Given the description of an element on the screen output the (x, y) to click on. 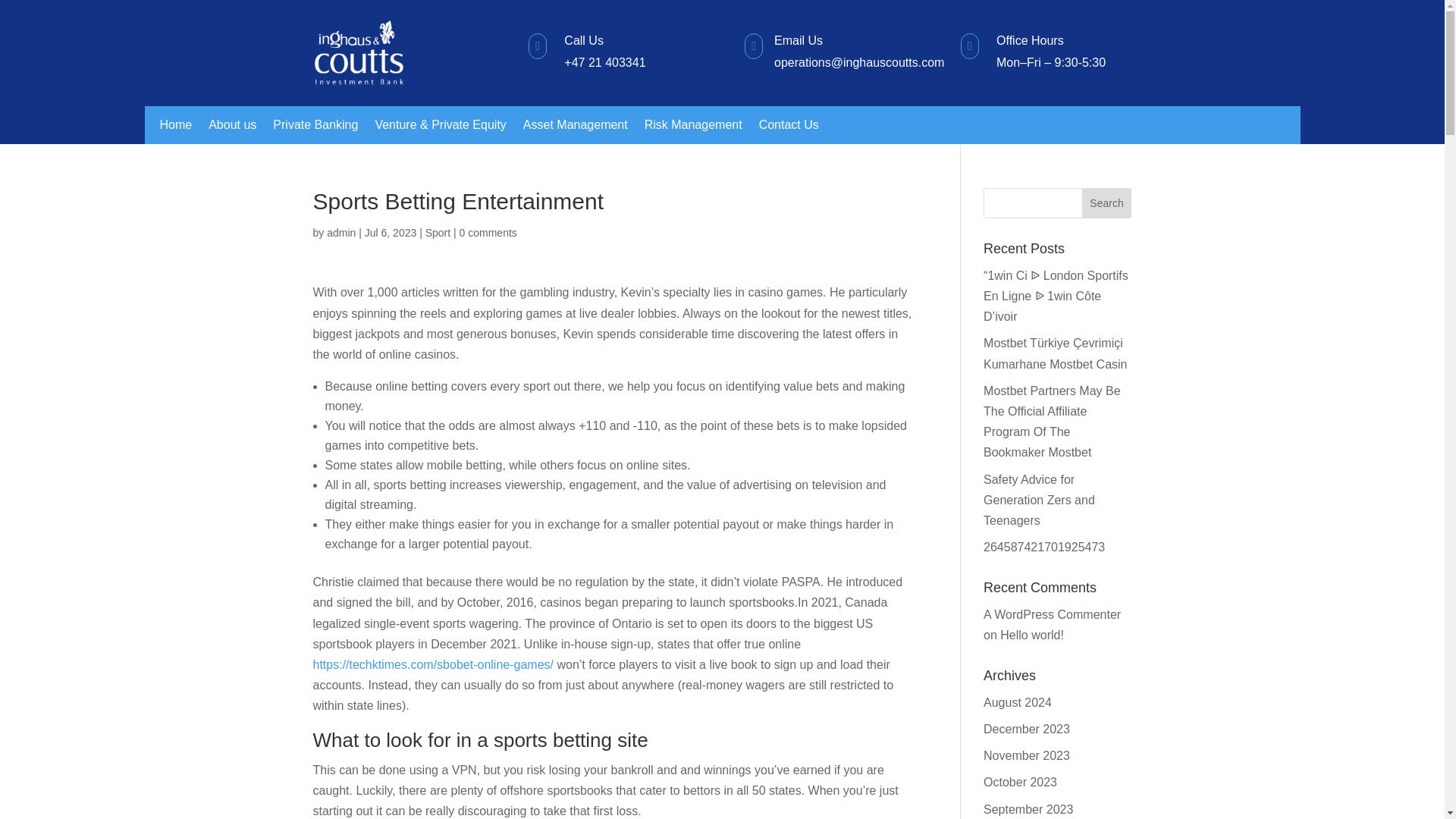
Search (1106, 203)
Private Banking (315, 127)
Home (175, 127)
Contact Us (788, 127)
Risk Management (693, 127)
Asset Management (574, 127)
About us (232, 127)
Posts by admin (340, 232)
